Given the description of an element on the screen output the (x, y) to click on. 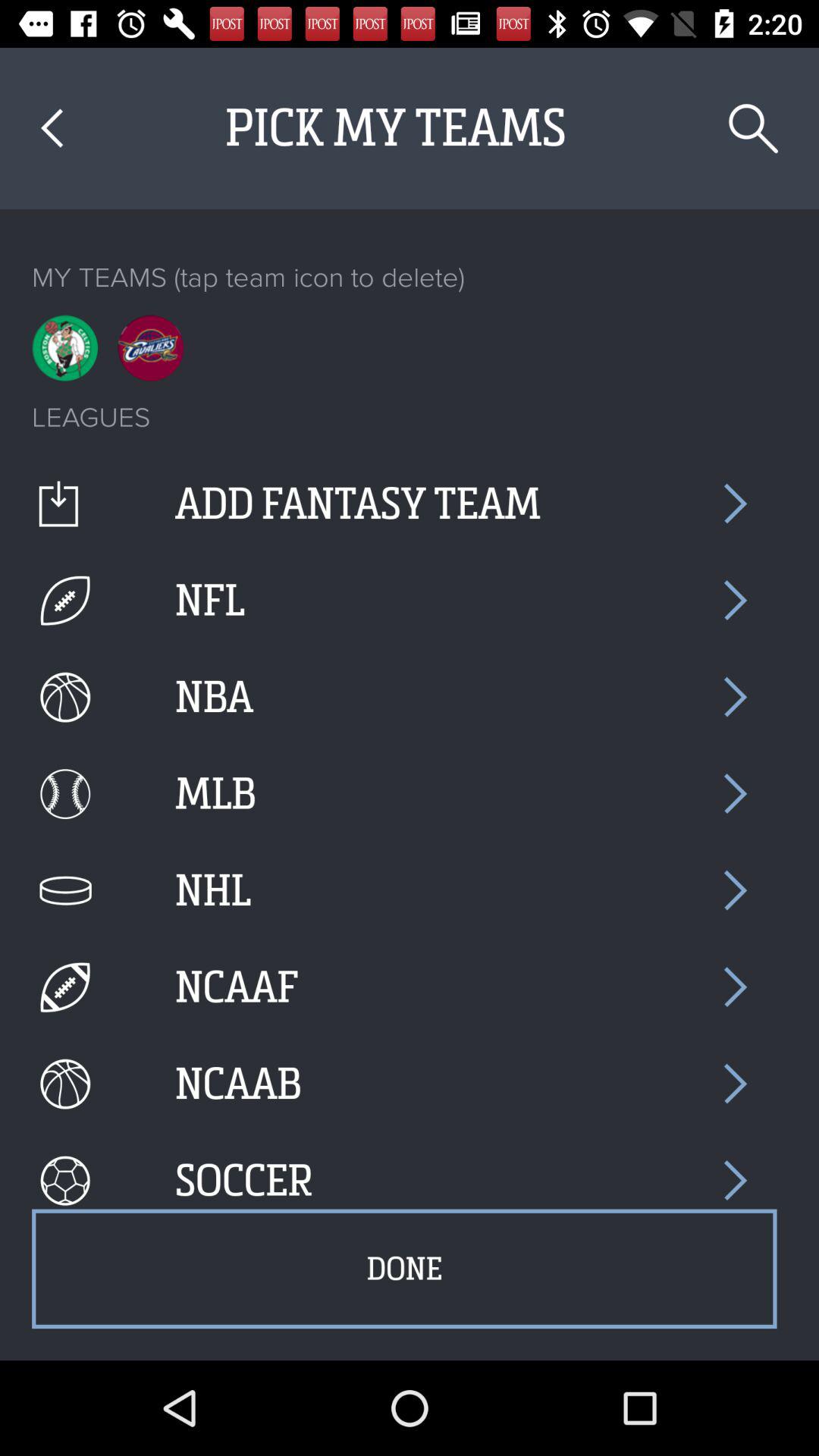
turn on the done item (403, 1268)
